Given the description of an element on the screen output the (x, y) to click on. 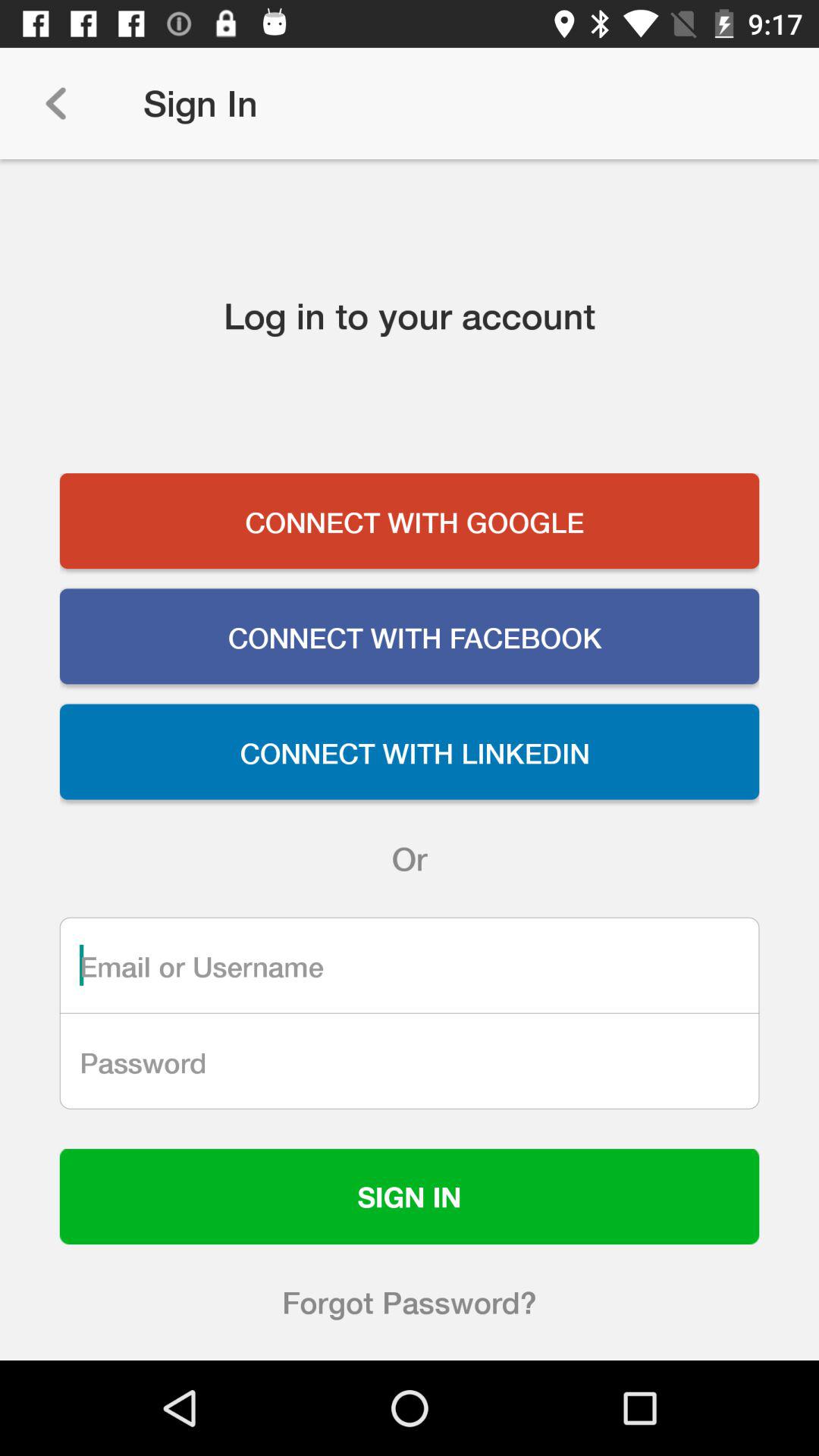
password (409, 1061)
